Given the description of an element on the screen output the (x, y) to click on. 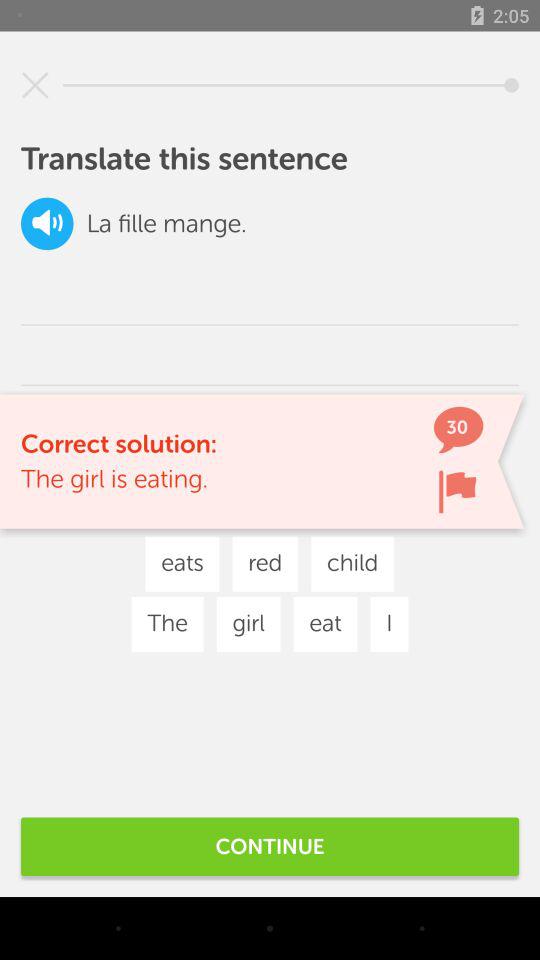
mute (47, 223)
